Given the description of an element on the screen output the (x, y) to click on. 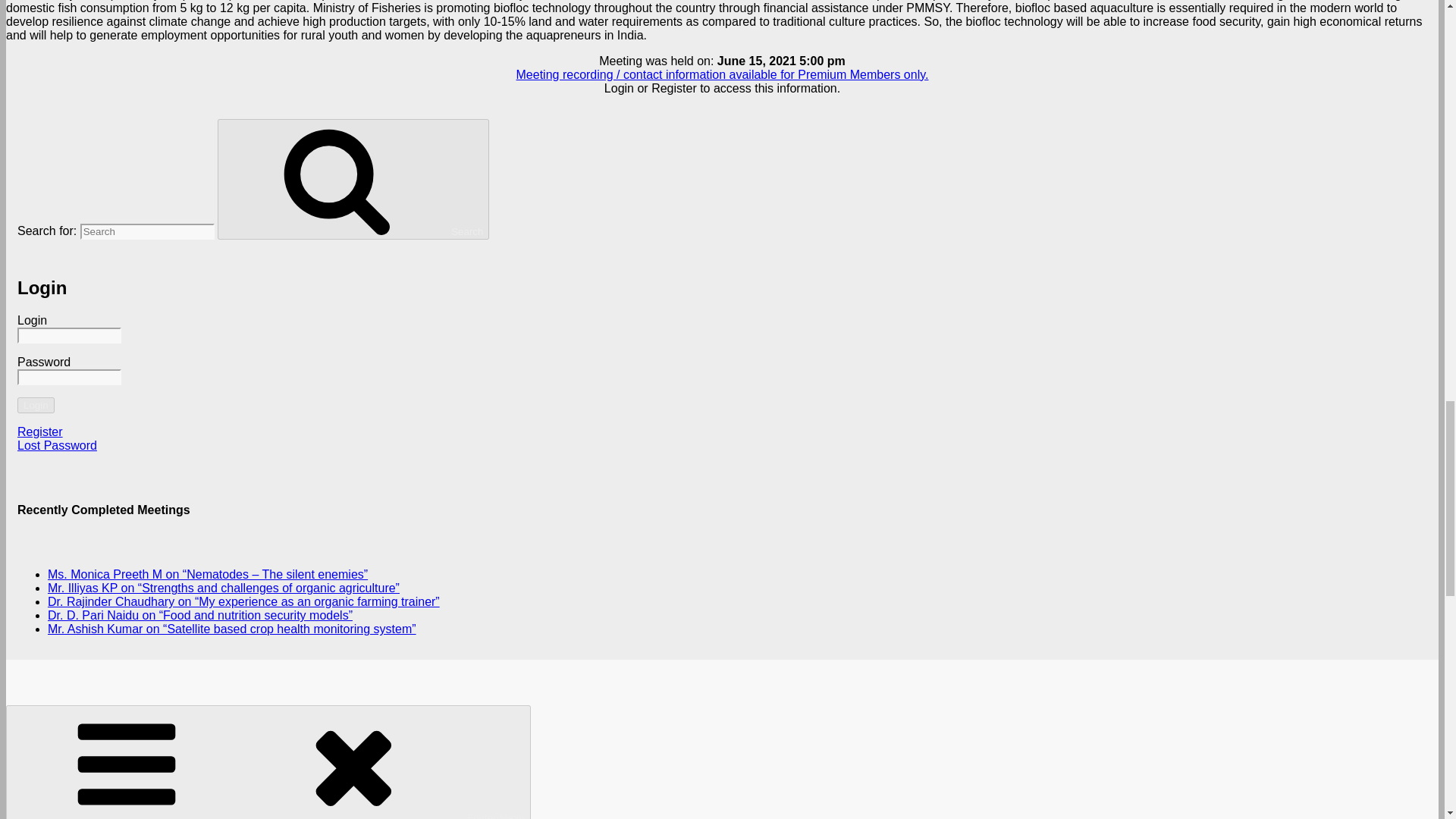
Lost Password (57, 445)
Login (36, 405)
Register (39, 431)
Login (36, 405)
Search (352, 178)
